Given the description of an element on the screen output the (x, y) to click on. 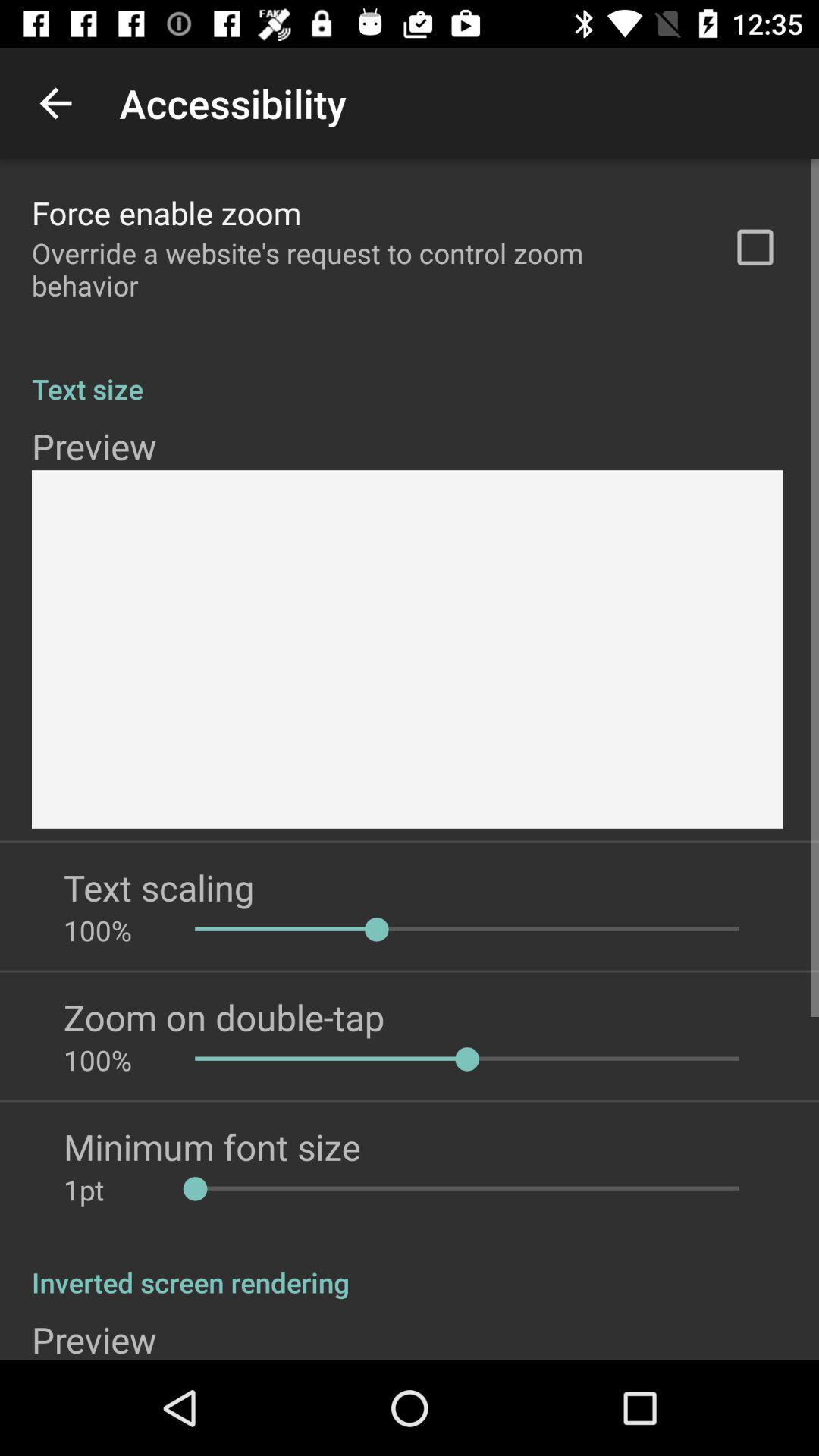
tap app above the 100% app (158, 887)
